Given the description of an element on the screen output the (x, y) to click on. 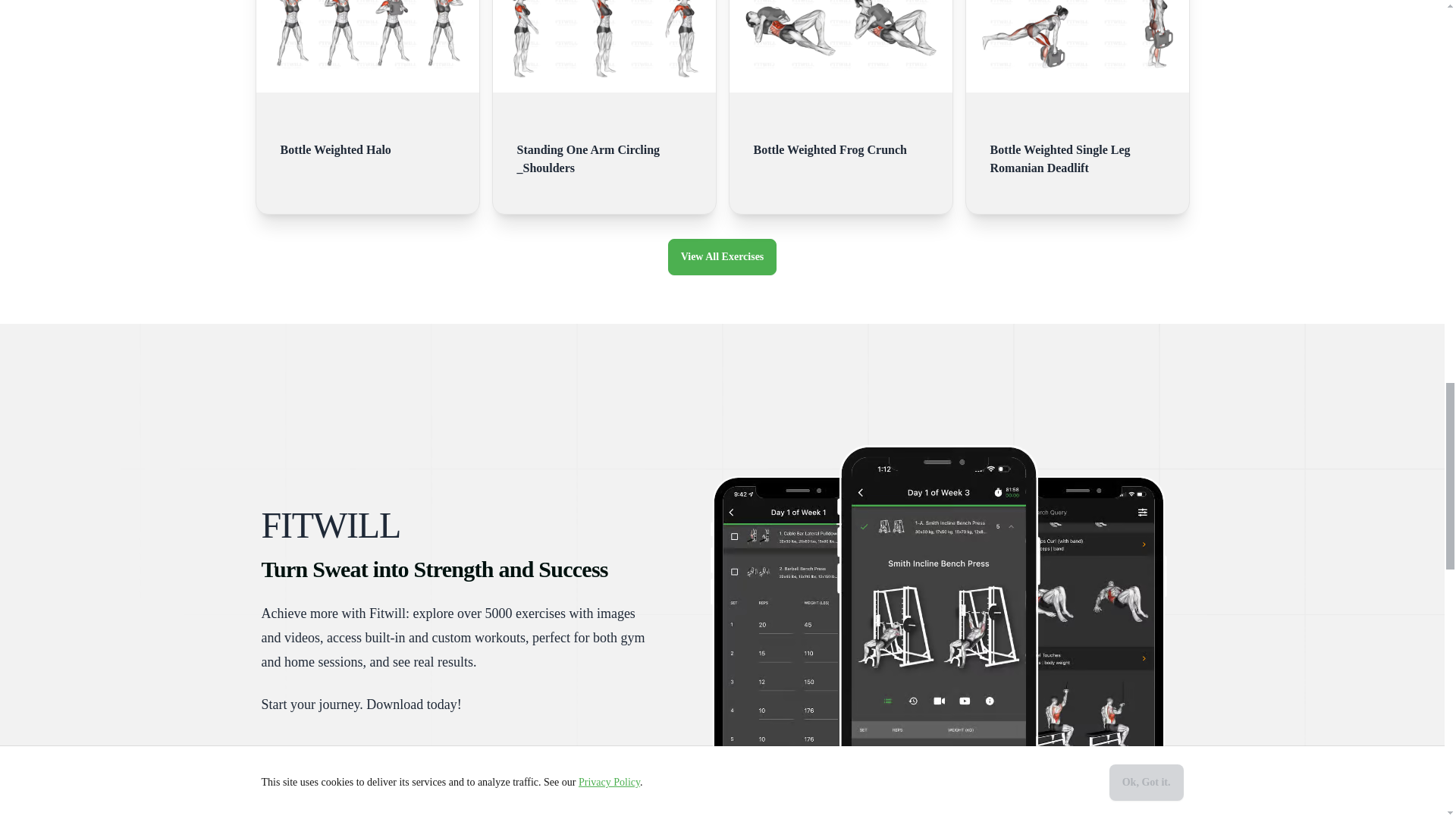
Bottle Weighted Halo (367, 144)
Download Fitwill on the App Store (322, 764)
View All Exercises (722, 257)
Bottle Weighted Single Leg Romanian Deadlift (1077, 153)
Bottle Weighted Frog Crunch (841, 144)
Get Fitwill on Google Play (462, 764)
